Given the description of an element on the screen output the (x, y) to click on. 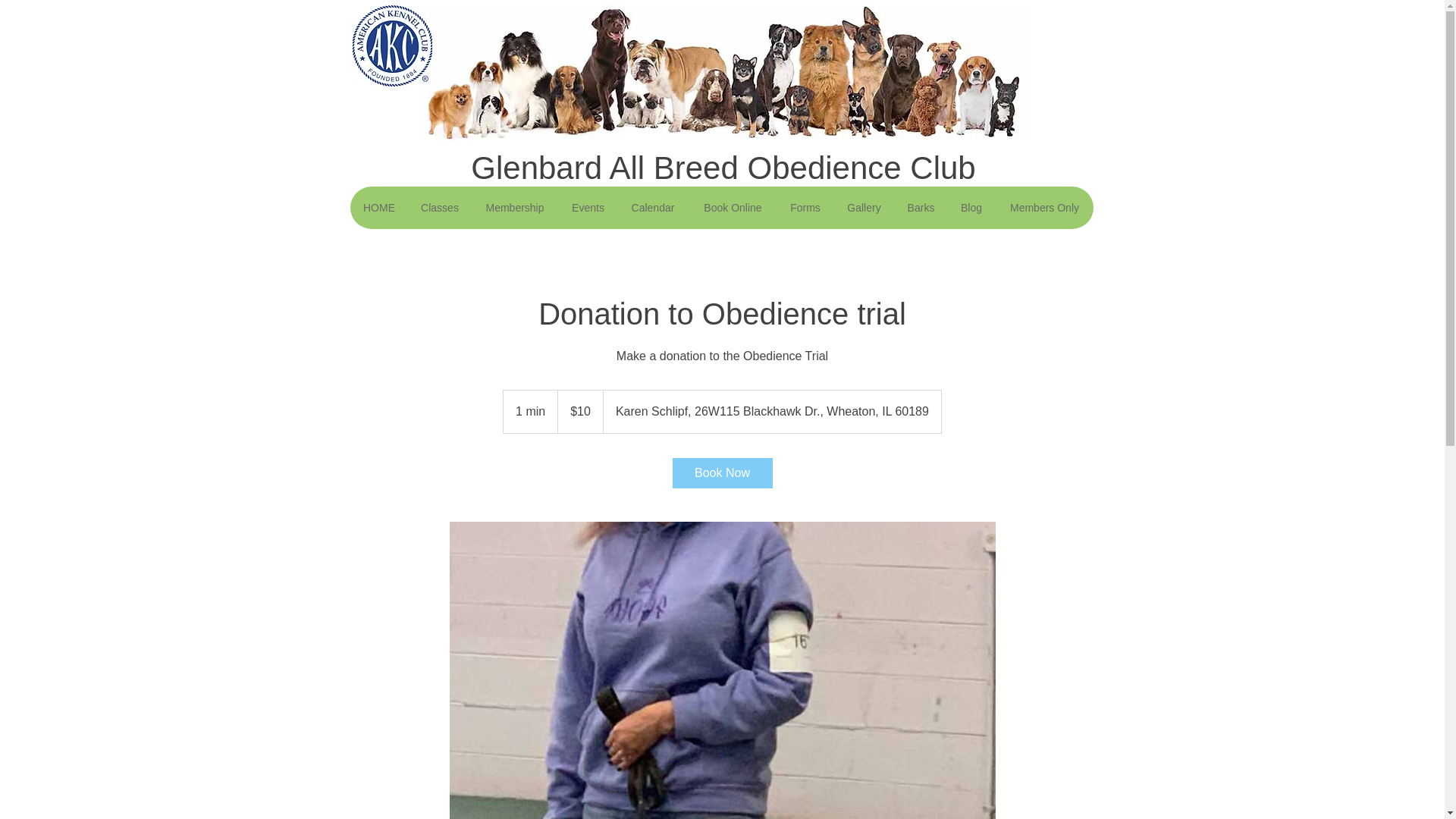
Events (586, 207)
Members Only (1043, 207)
Blog (970, 207)
Membership (513, 207)
Forms (804, 207)
HOME (379, 207)
Barks (921, 207)
Book Online (732, 207)
Book Now (721, 472)
Gallery (862, 207)
Calendar (652, 207)
